Given the description of an element on the screen output the (x, y) to click on. 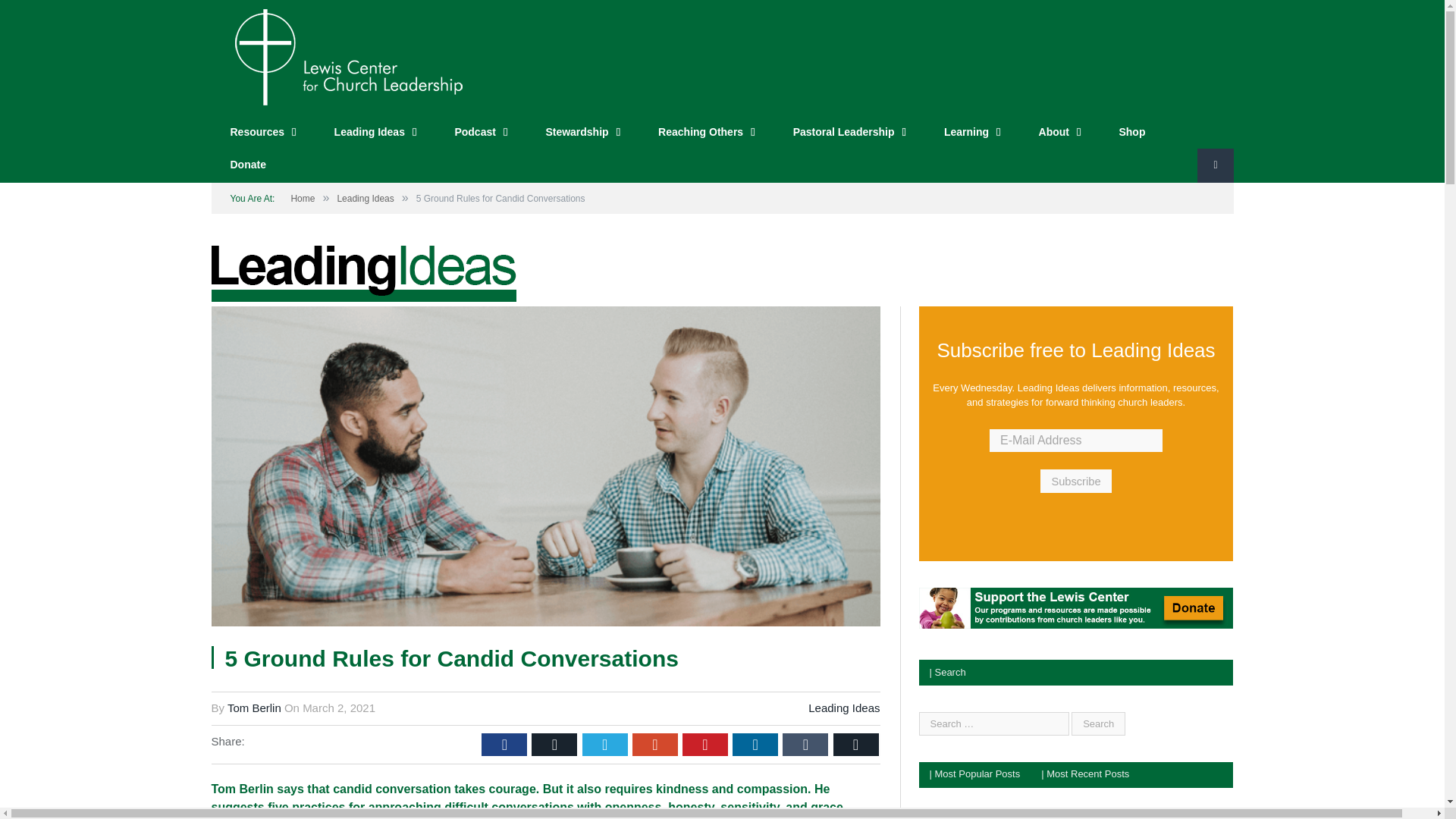
Search (1098, 723)
Reaching Others (706, 132)
Search (1098, 723)
Leading Ideas (375, 132)
2021-03-02 (338, 707)
Lewis Center for Church Leadership (347, 55)
Print this page (854, 744)
Share on LinkedIn (754, 744)
Tweet It (604, 744)
Share on Tumblr (805, 744)
